Given the description of an element on the screen output the (x, y) to click on. 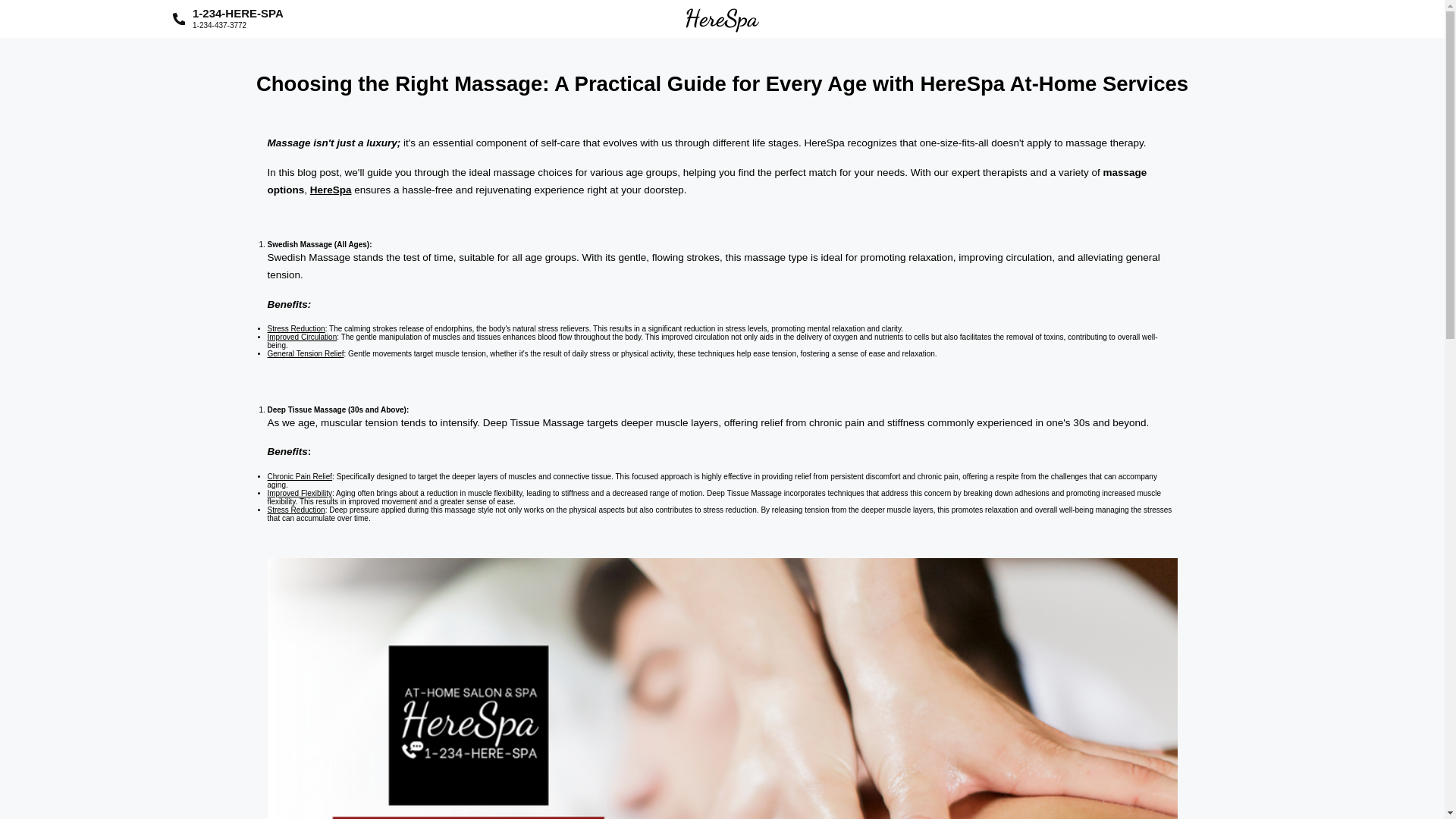
massage options (706, 181)
HereSpa (237, 18)
